Given the description of an element on the screen output the (x, y) to click on. 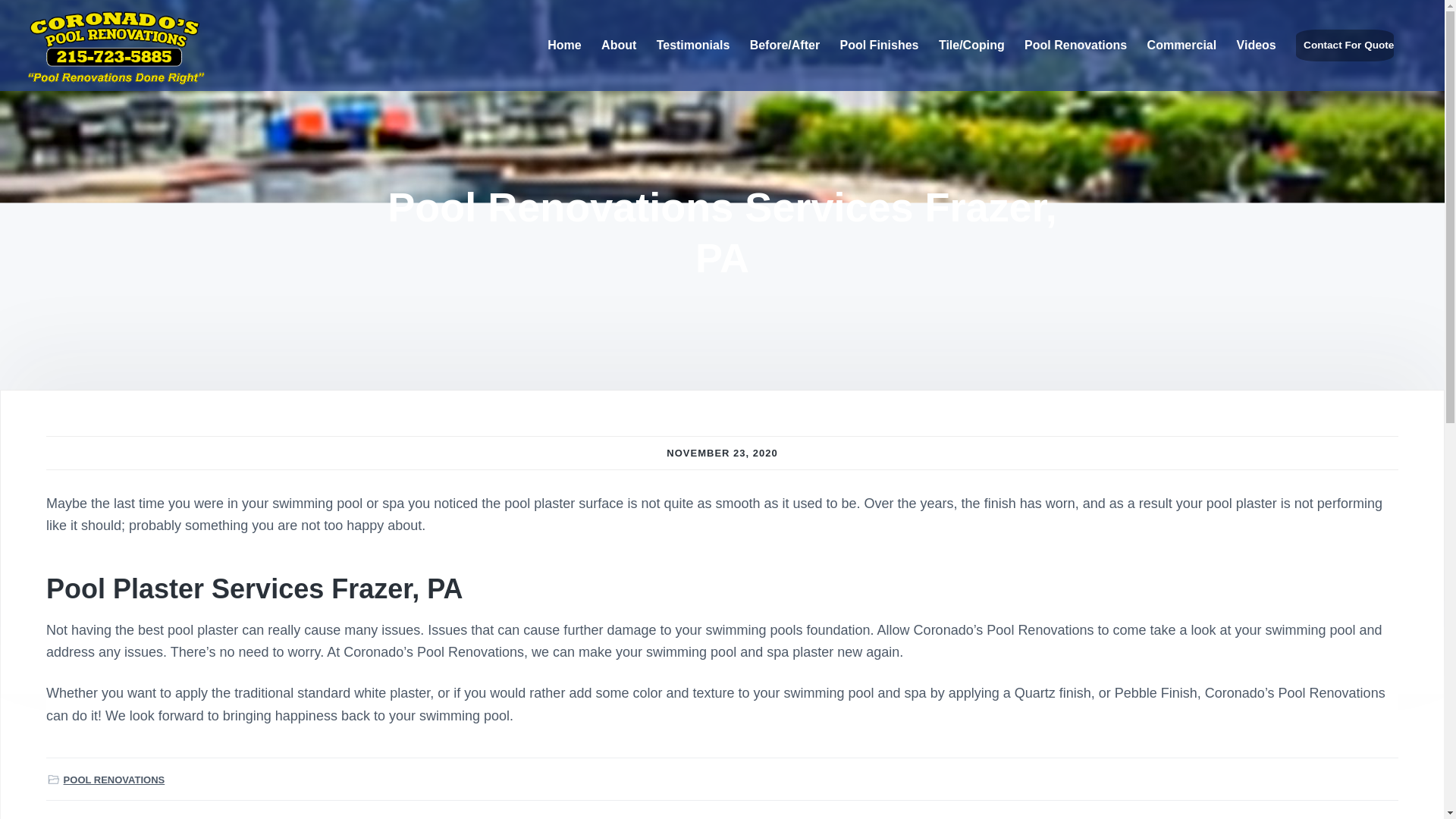
Home (563, 45)
Pool Finishes (879, 45)
About (618, 45)
Contact For Quote (1344, 45)
Testimonials (693, 45)
Pool Renovations (1075, 45)
Videos (1256, 45)
POOL RENOVATIONS (114, 779)
Commercial (1182, 45)
